Given the description of an element on the screen output the (x, y) to click on. 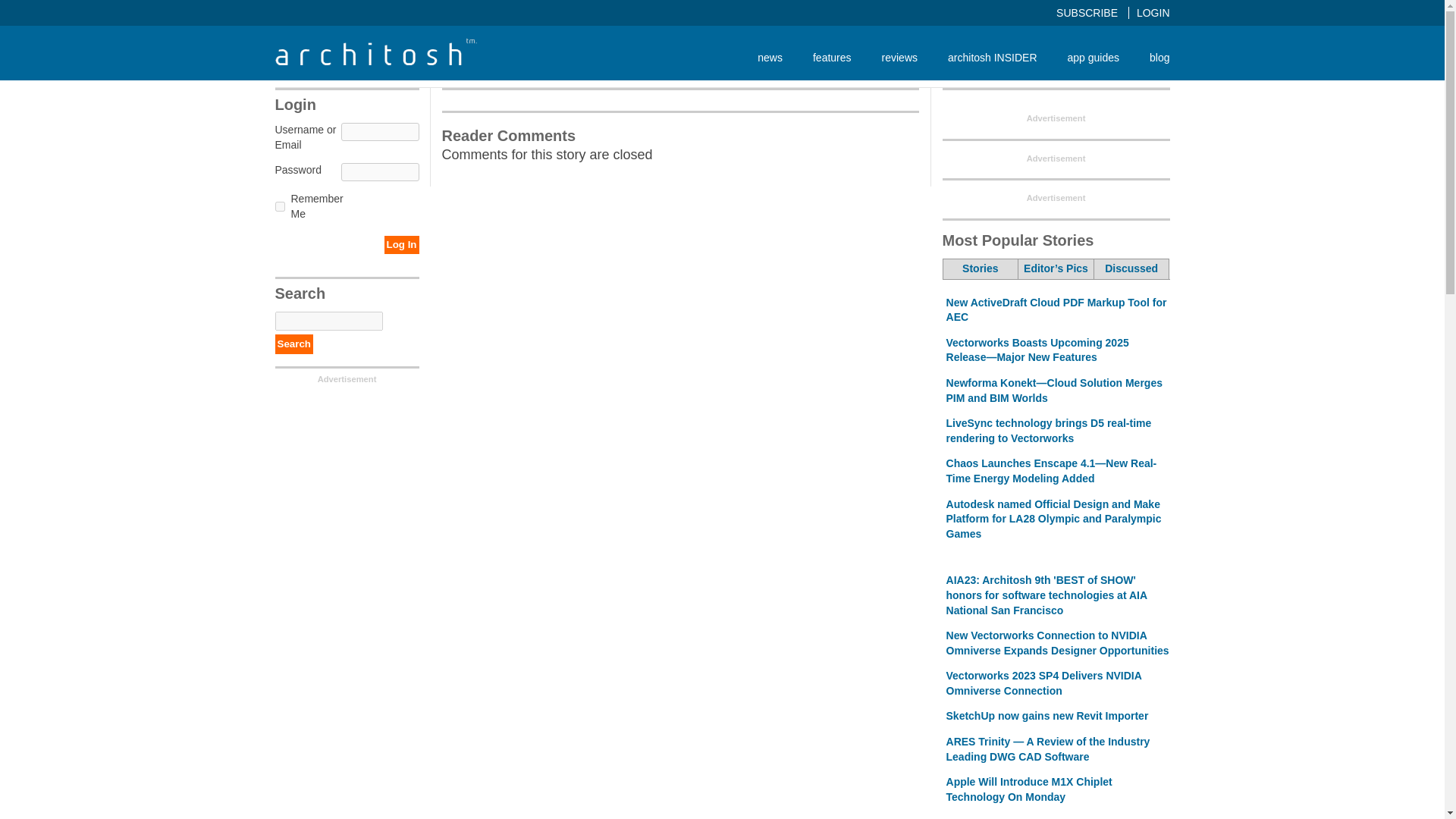
New ActiveDraft Cloud PDF Markup Tool for AEC (1056, 309)
blog (1151, 56)
Home (375, 61)
forever (279, 206)
SUBSCRIBE (1093, 12)
reviews (899, 56)
Stories (980, 269)
Discussed (1131, 269)
features (831, 56)
Log In (401, 244)
